Given the description of an element on the screen output the (x, y) to click on. 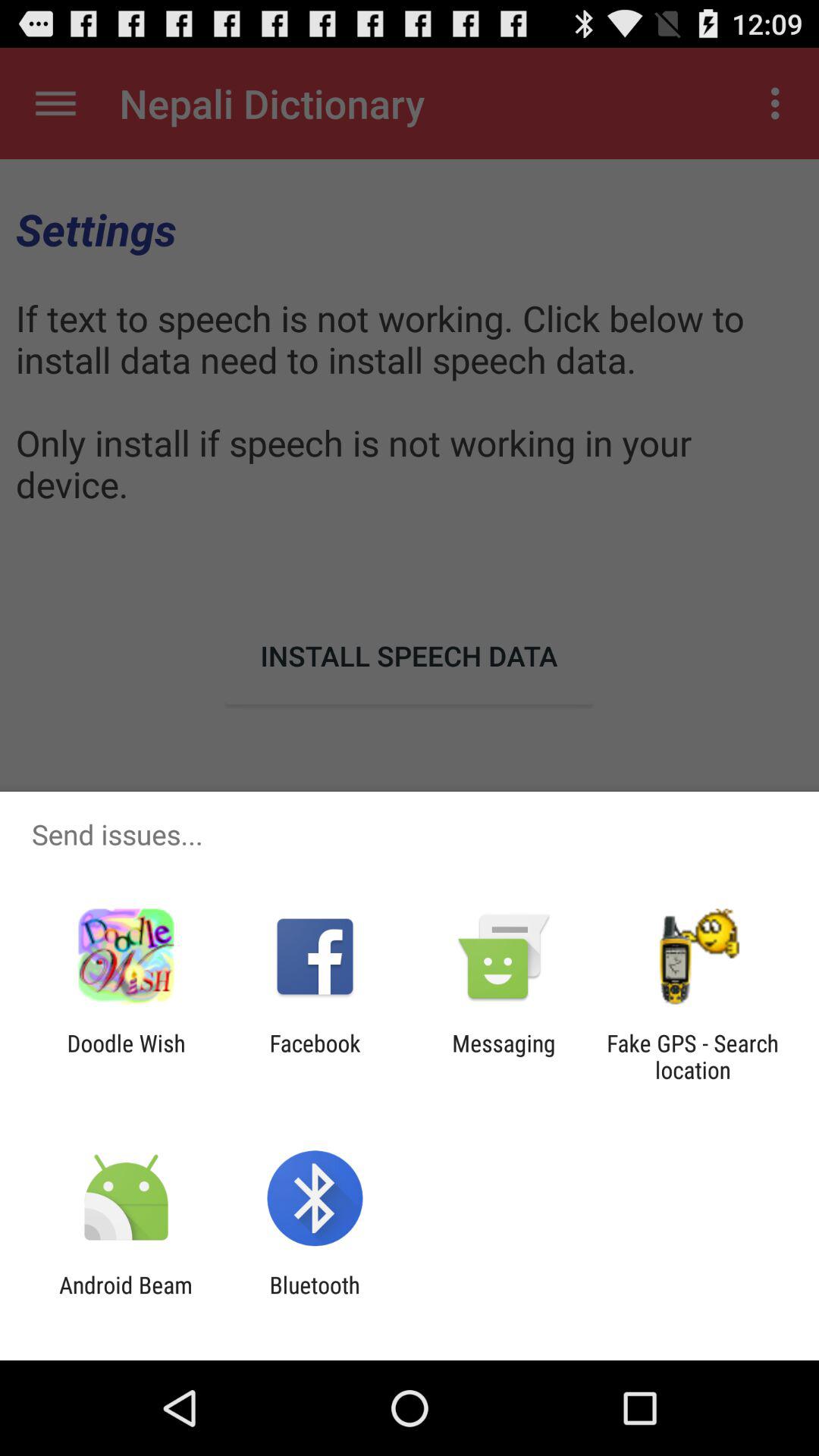
launch the app next to the facebook (503, 1056)
